Given the description of an element on the screen output the (x, y) to click on. 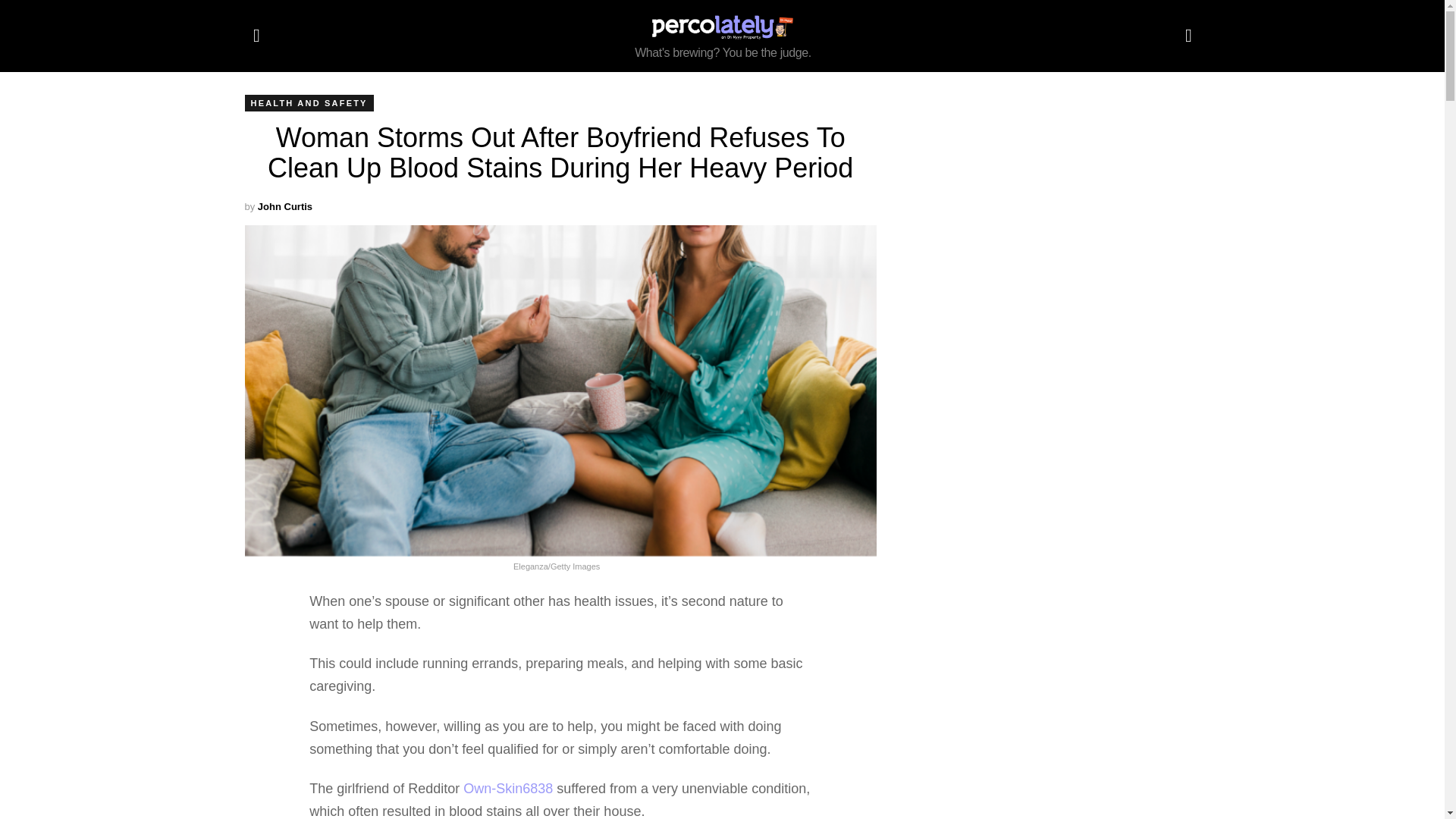
Own-Skin6838 (508, 788)
HEALTH AND SAFETY (308, 103)
Posts by John Curtis (285, 206)
John Curtis (285, 206)
